Given the description of an element on the screen output the (x, y) to click on. 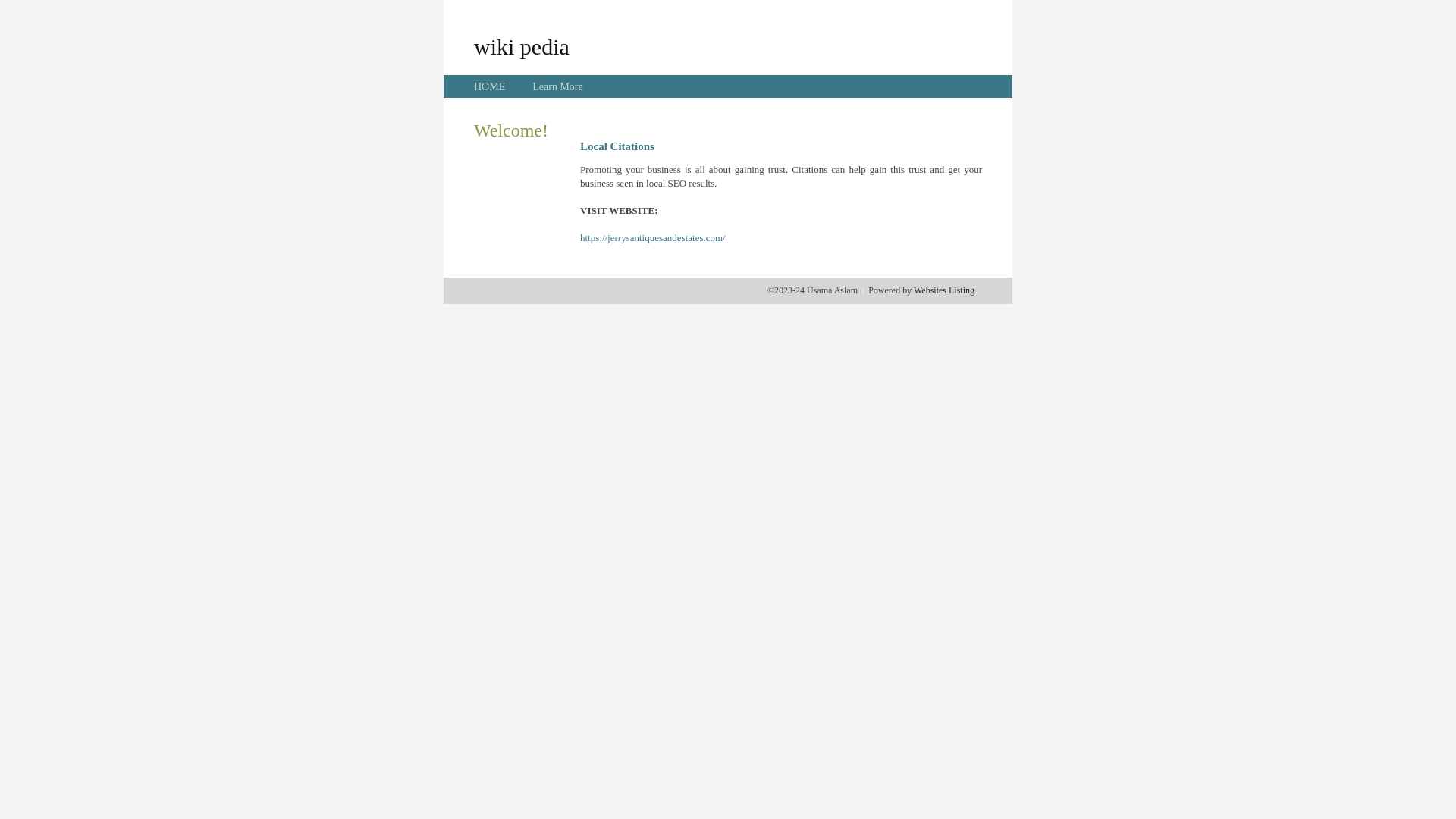
wiki pedia Element type: text (521, 46)
https://jerrysantiquesandestates.com/ Element type: text (652, 237)
Learn More Element type: text (557, 86)
HOME Element type: text (489, 86)
Websites Listing Element type: text (943, 290)
